Given the description of an element on the screen output the (x, y) to click on. 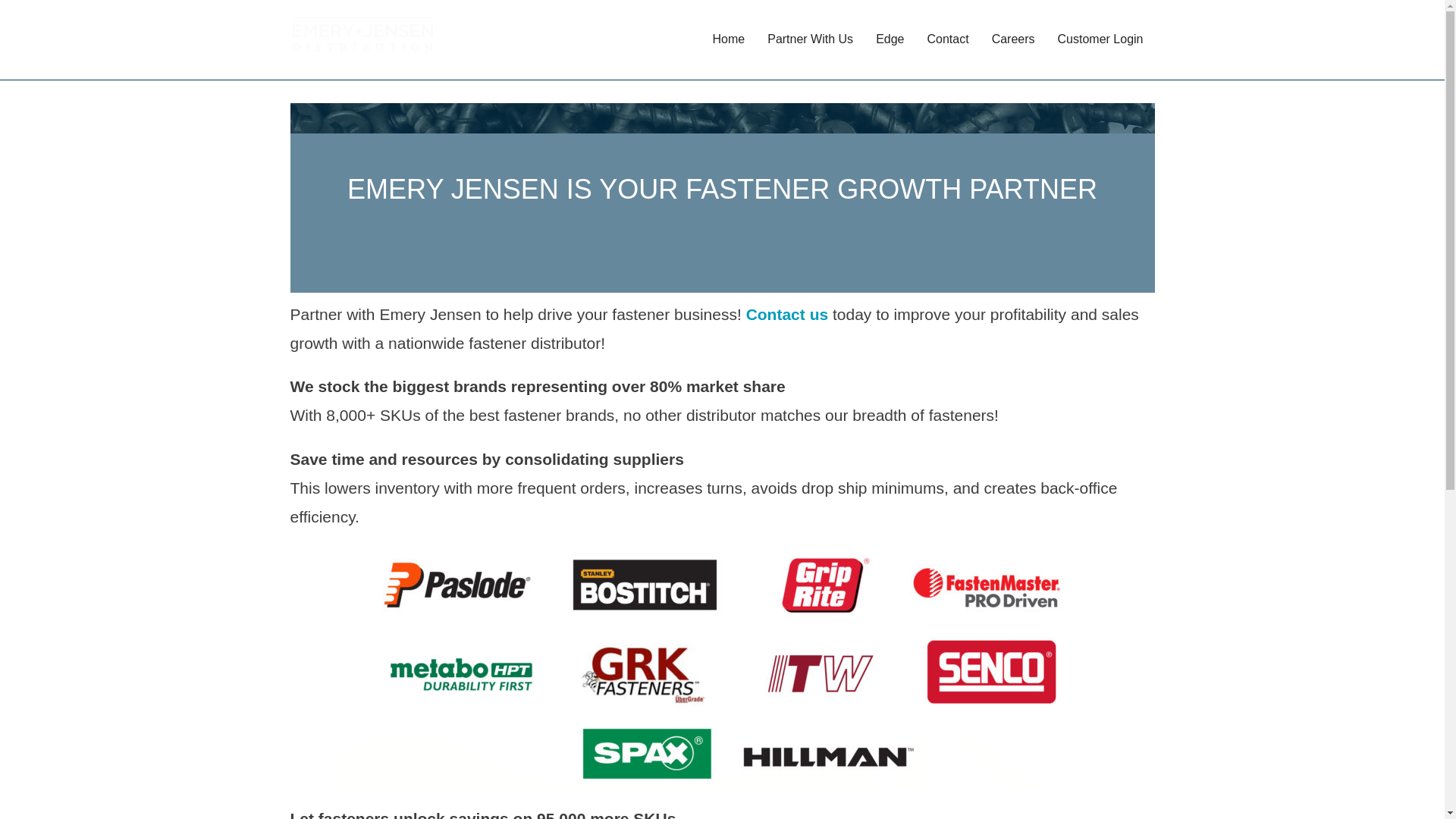
Customer Login (1100, 39)
Partner With Us (809, 39)
Contact us (786, 313)
